Given the description of an element on the screen output the (x, y) to click on. 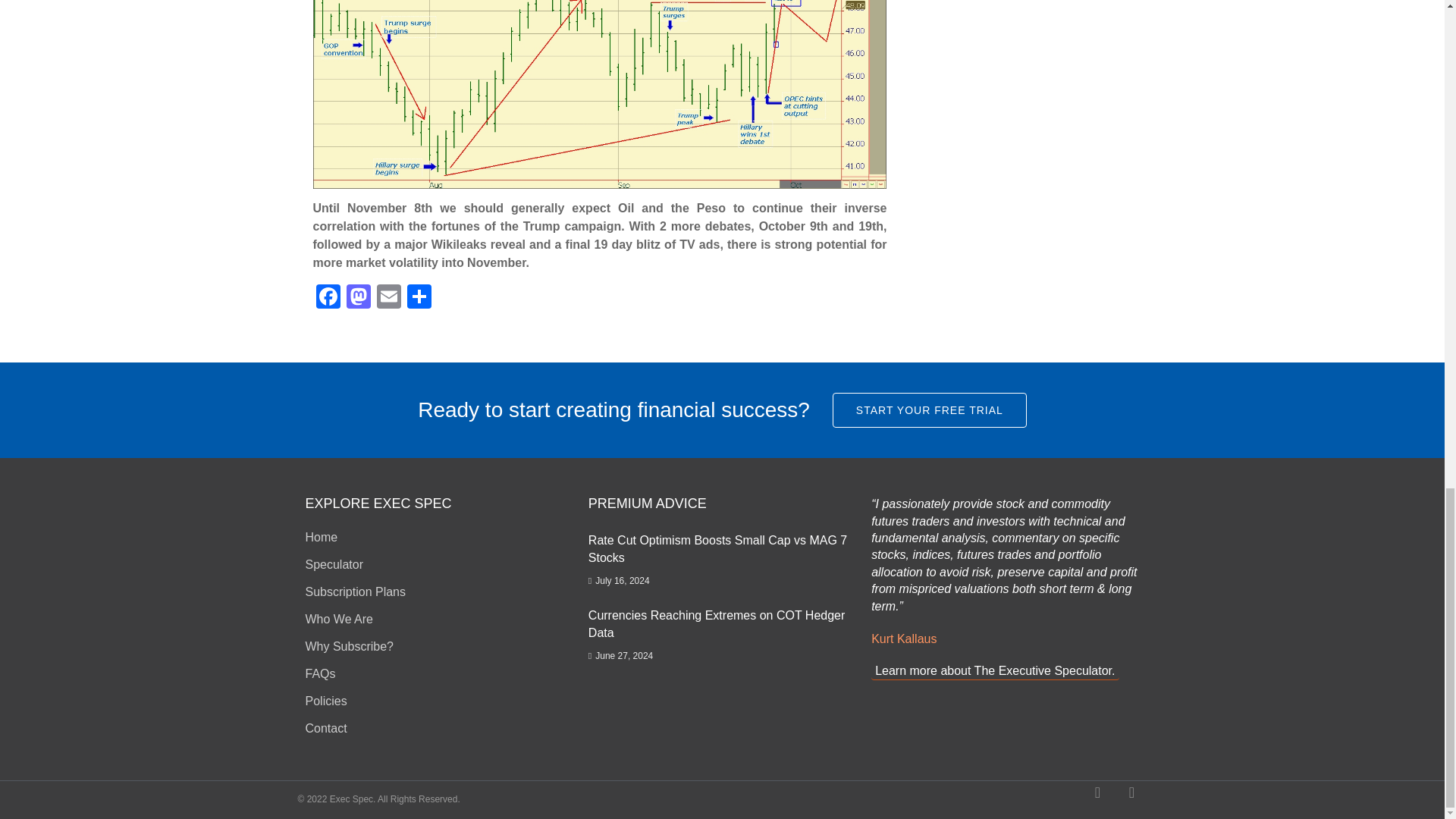
Email (387, 298)
Facebook (327, 298)
Mastodon (357, 298)
